Given the description of an element on the screen output the (x, y) to click on. 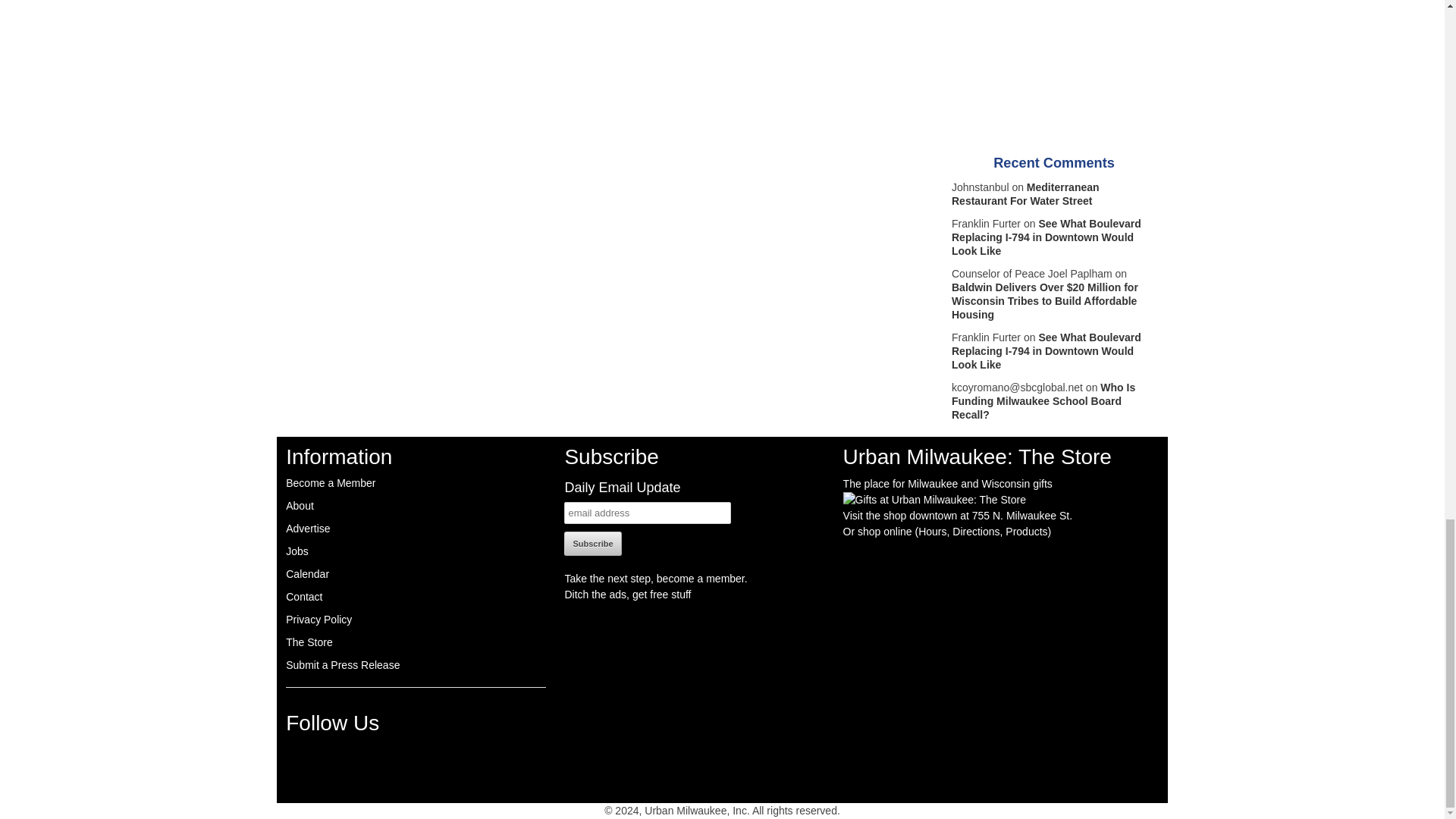
Subscribe (592, 543)
